Given the description of an element on the screen output the (x, y) to click on. 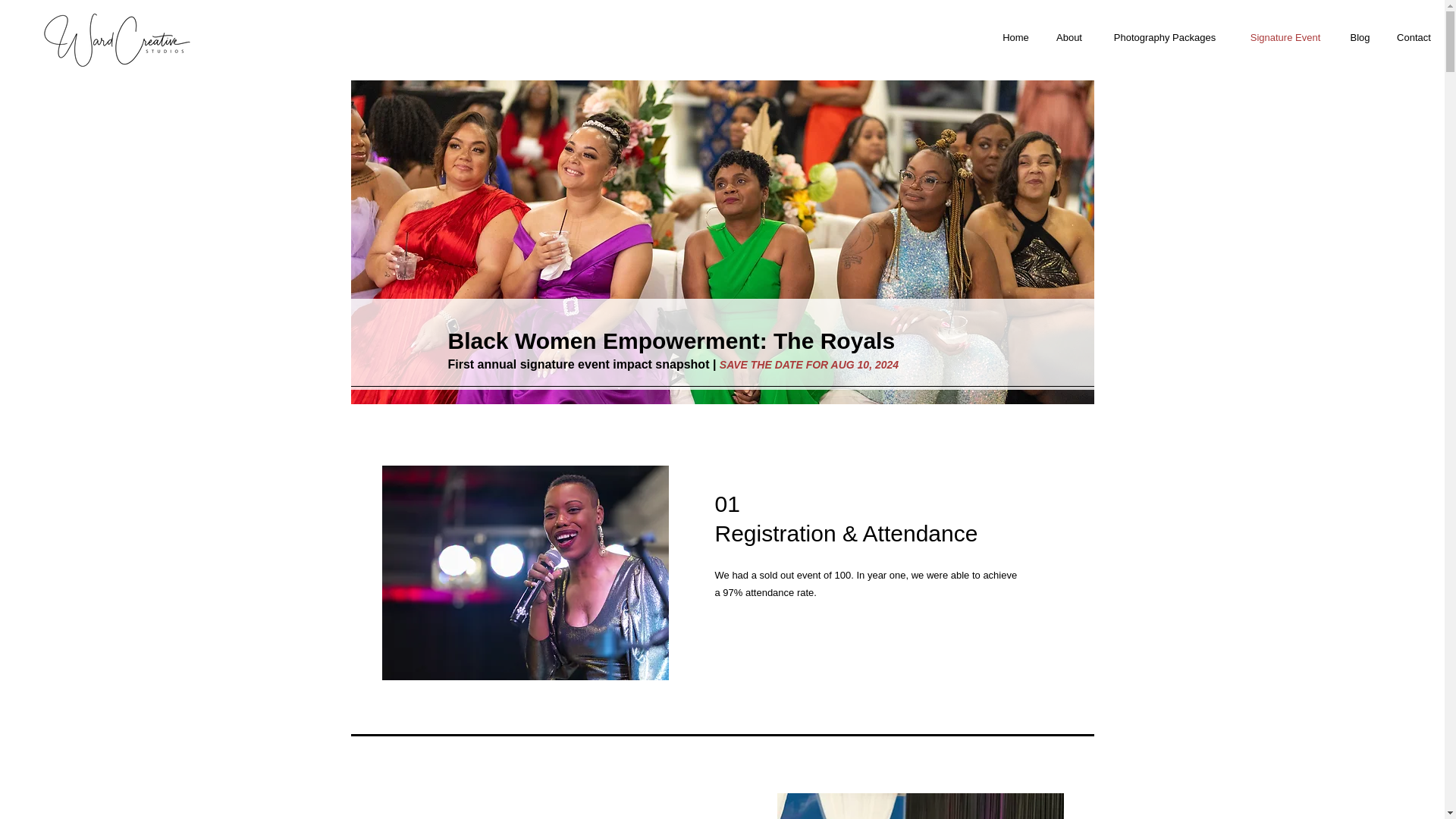
Signature Event (1284, 37)
Home (1015, 37)
Blog (1359, 37)
Photography Packages (1164, 37)
About (1069, 37)
